Given the description of an element on the screen output the (x, y) to click on. 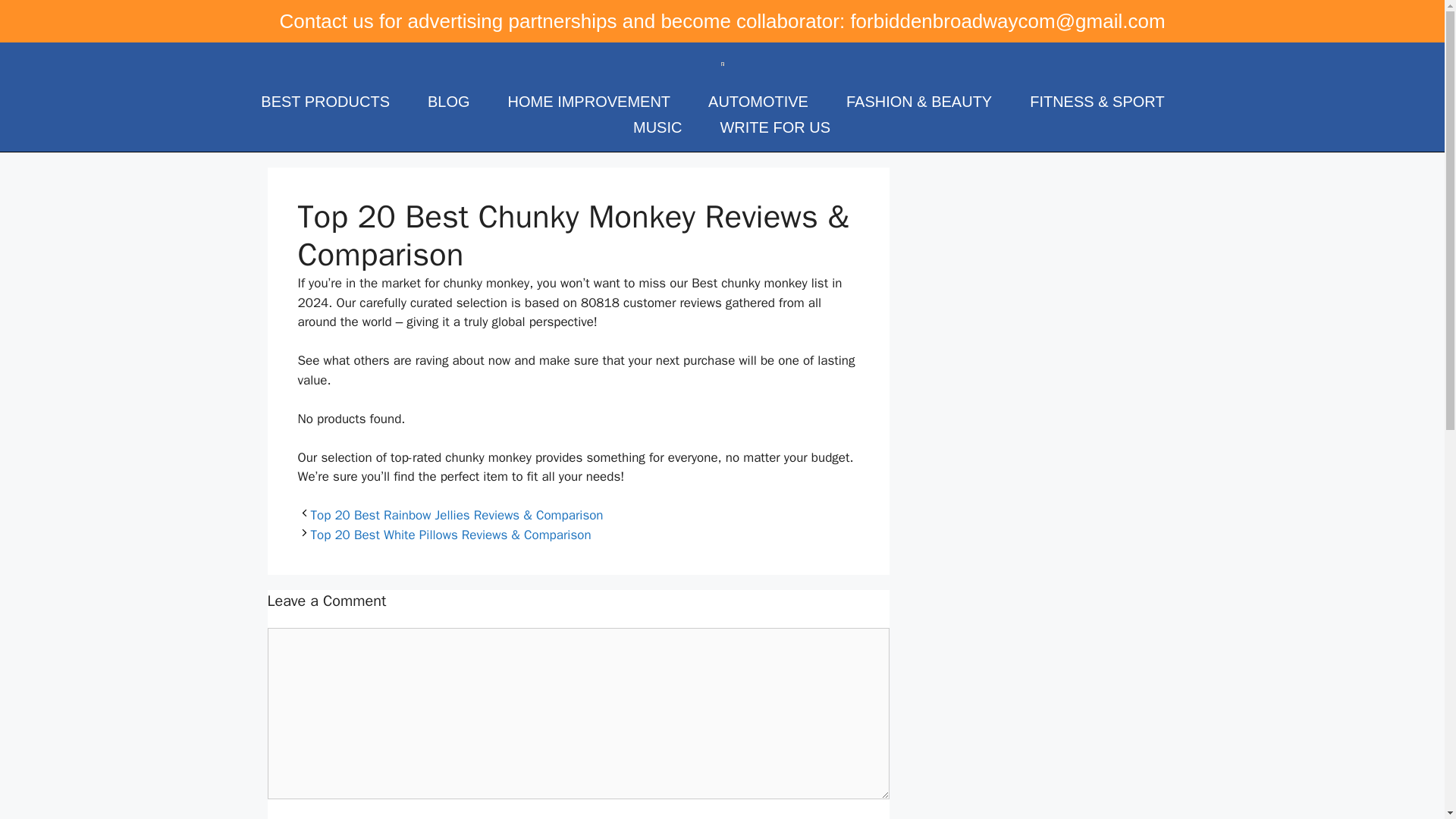
BLOG (449, 100)
HOME IMPROVEMENT (588, 100)
AUTOMOTIVE (757, 100)
WRITE FOR US (774, 126)
MUSIC (657, 126)
BEST PRODUCTS (325, 100)
